Given the description of an element on the screen output the (x, y) to click on. 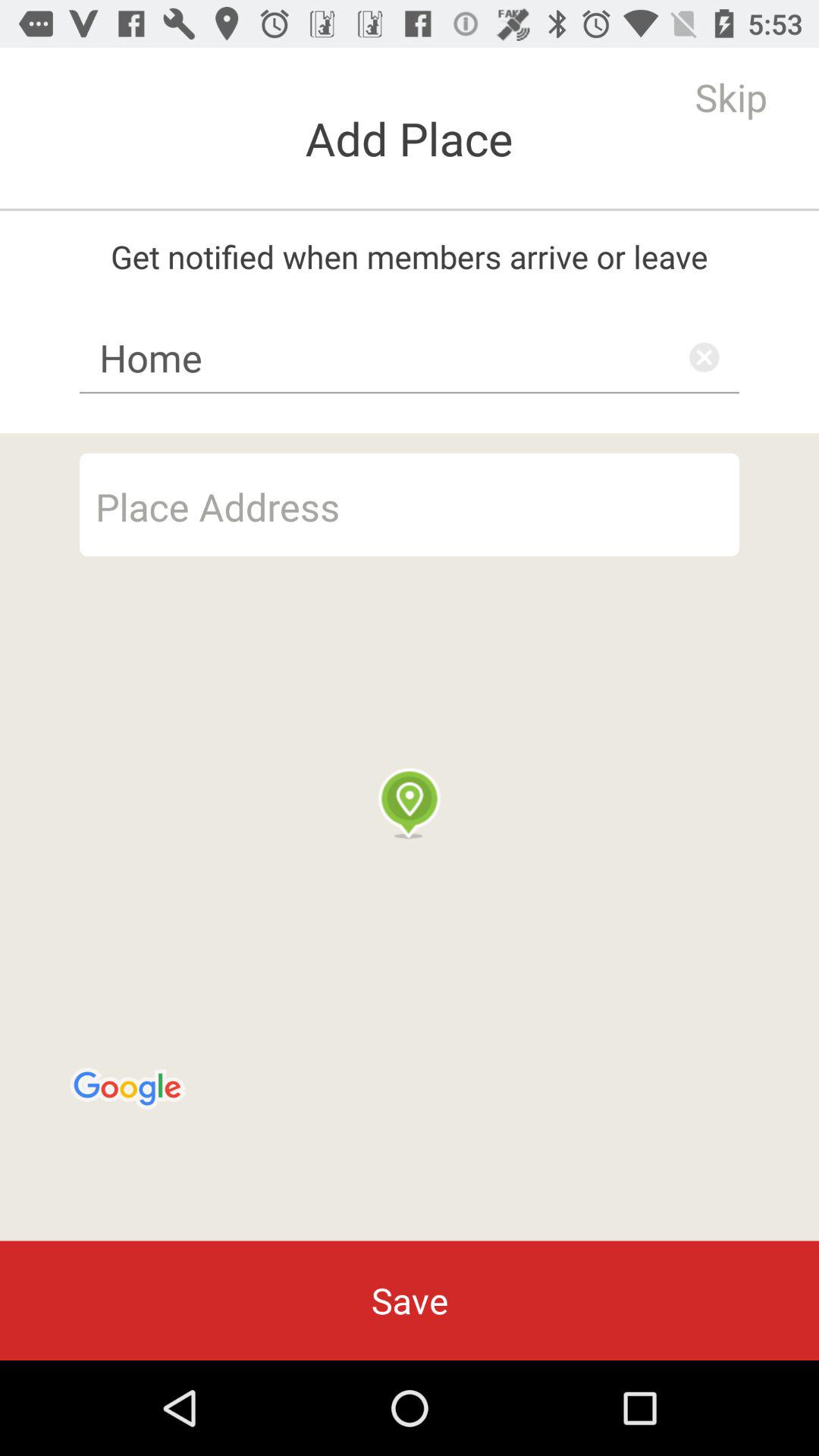
choose the skip item (731, 97)
